Given the description of an element on the screen output the (x, y) to click on. 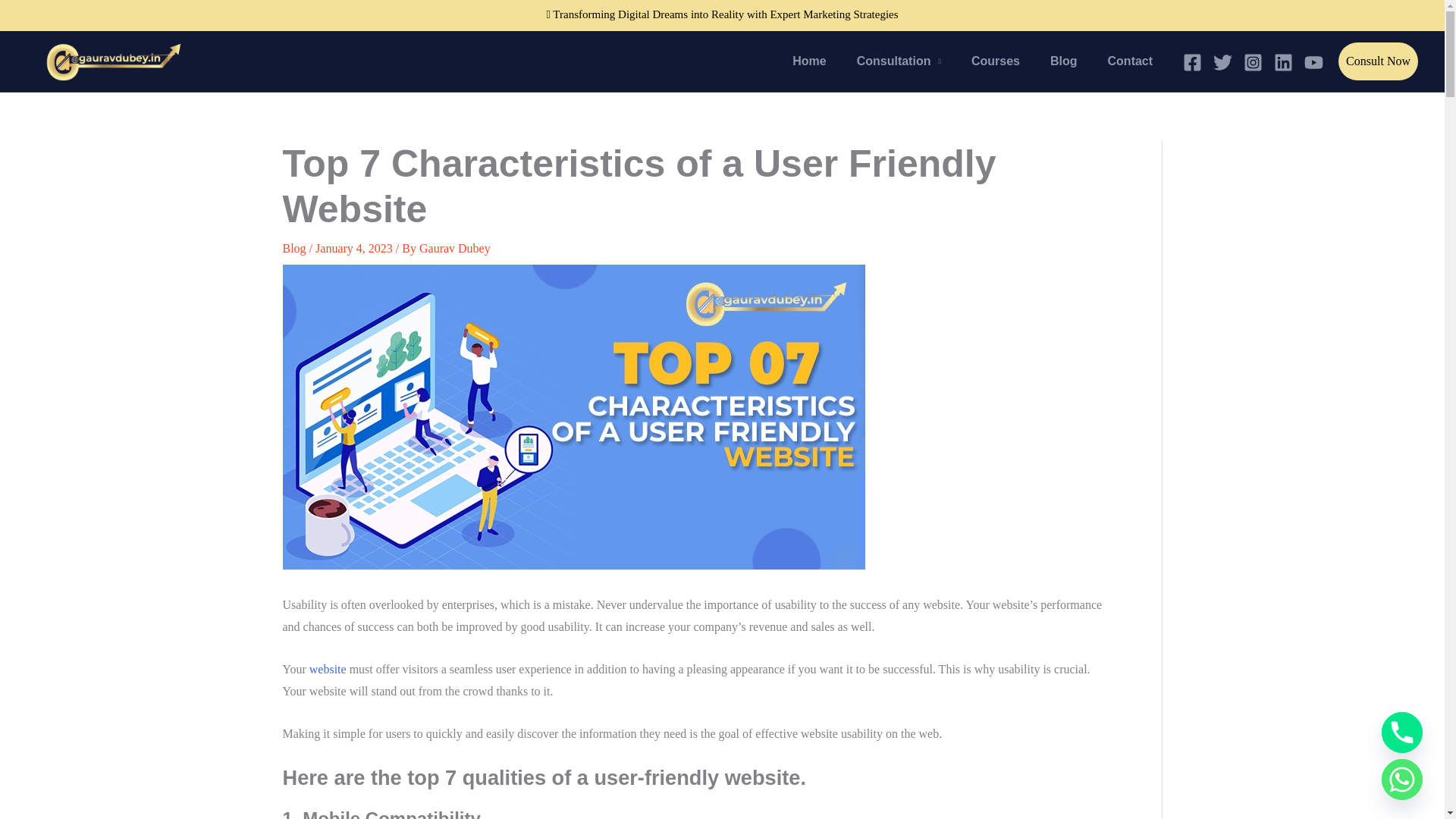
Contact (1131, 61)
Courses (995, 61)
Home (809, 61)
View all posts by Gaurav Dubey (454, 246)
Blog (1064, 61)
Gaurav Dubey (454, 246)
website (327, 668)
Consultation (898, 61)
Consult Now (1378, 61)
Blog (293, 246)
